Given the description of an element on the screen output the (x, y) to click on. 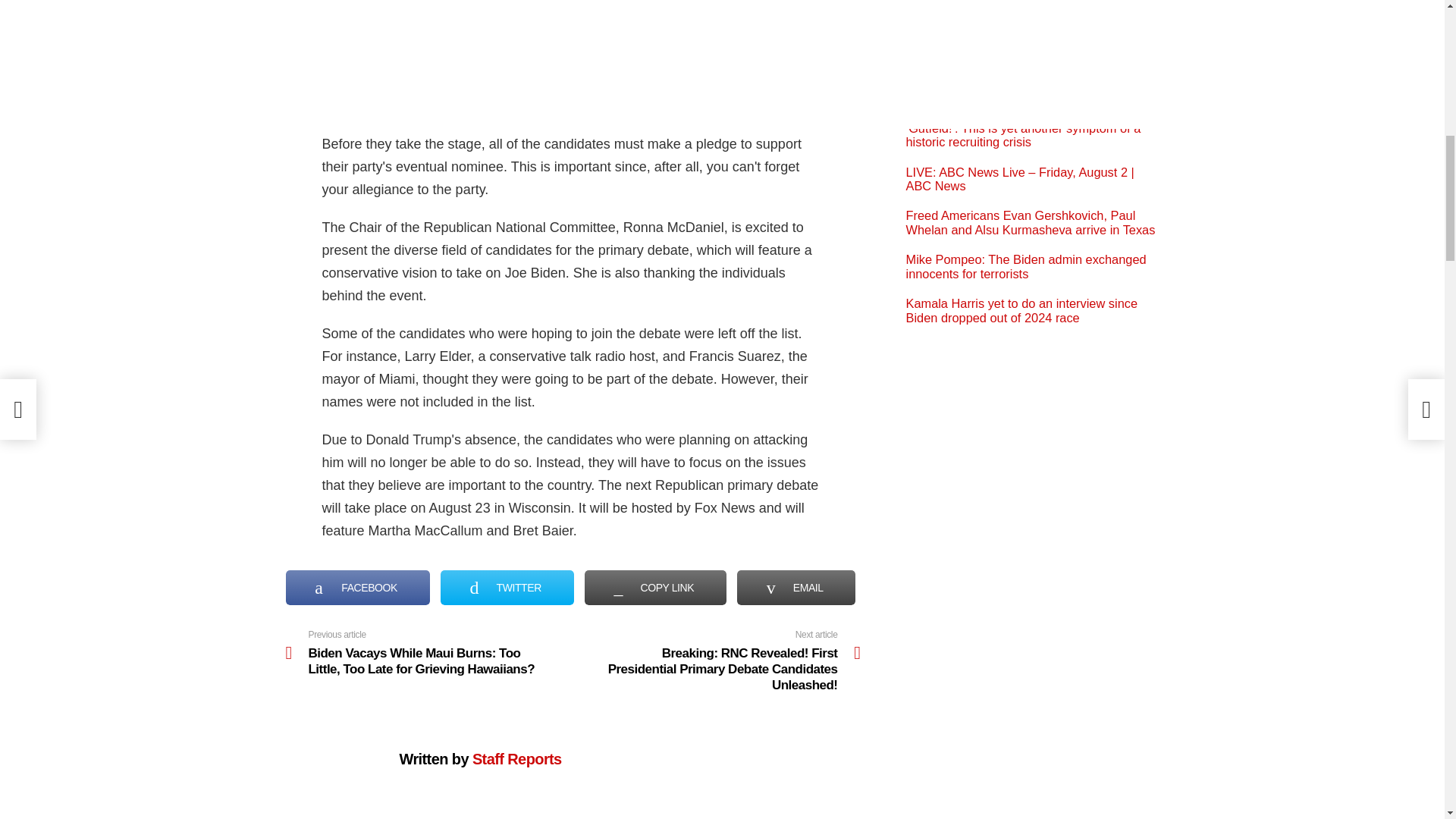
FACEBOOK (357, 587)
TWITTER (507, 587)
Share on Email (796, 587)
EMAIL (796, 587)
Staff Reports (516, 759)
Share on Facebook (357, 587)
Share on Copy Link (655, 587)
Share on Twitter (507, 587)
COPY LINK (655, 587)
